Given the description of an element on the screen output the (x, y) to click on. 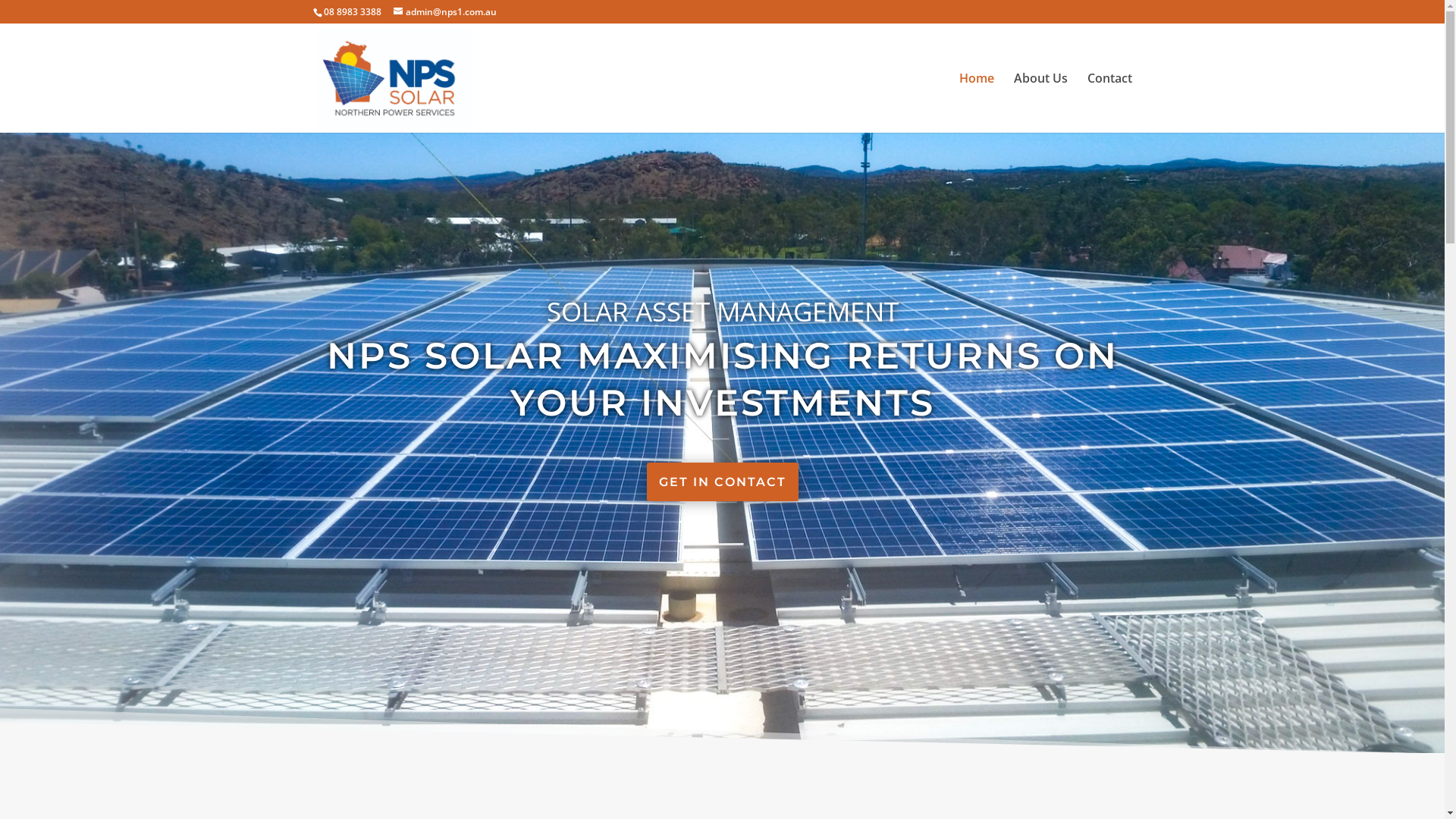
admin@nps1.com.au Element type: text (443, 11)
GET IN CONTACT Element type: text (721, 481)
Contact Element type: text (1109, 102)
Home Element type: text (975, 102)
About Us Element type: text (1039, 102)
